Given the description of an element on the screen output the (x, y) to click on. 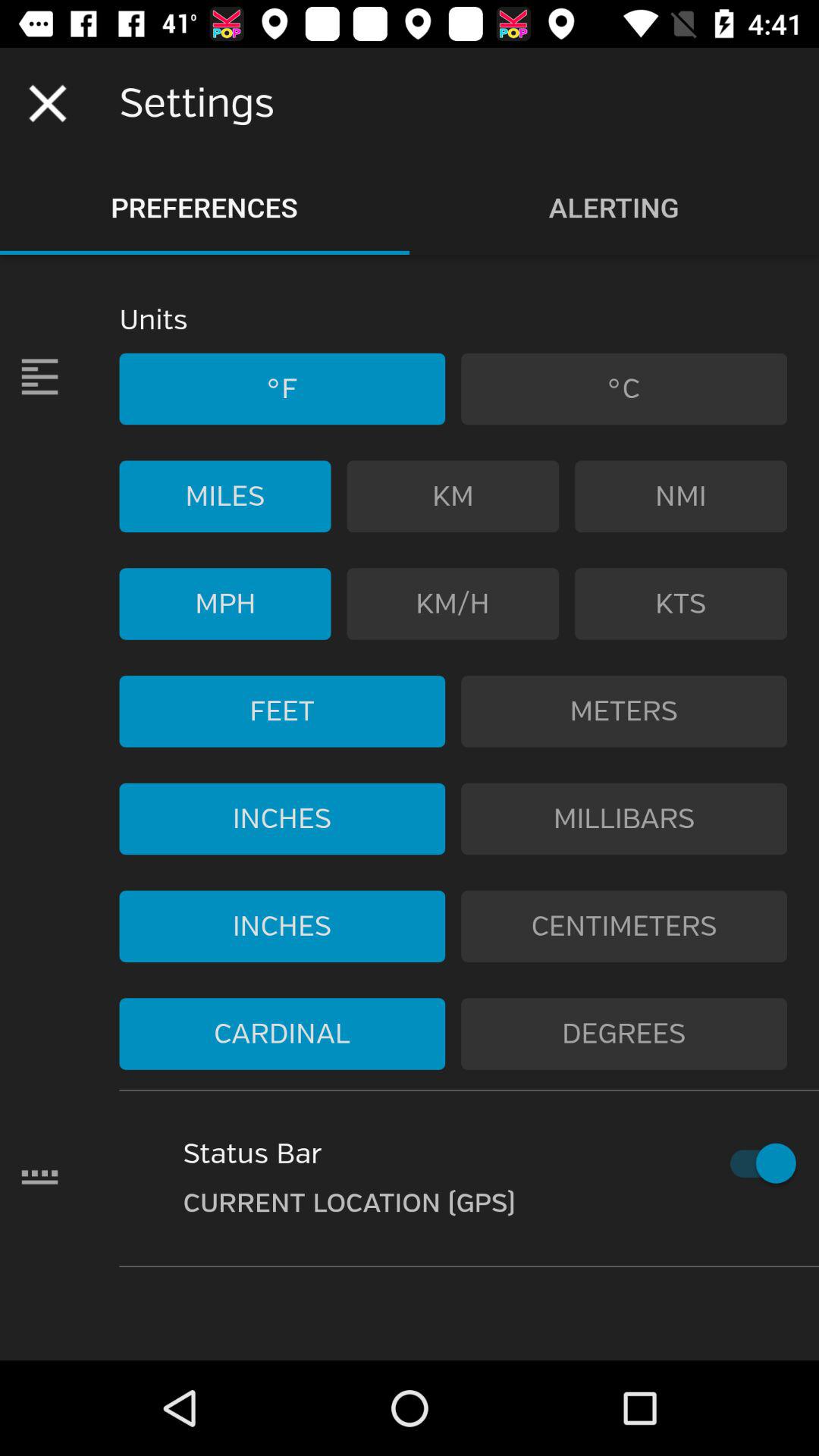
tap the icon next to inches icon (624, 818)
